Given the description of an element on the screen output the (x, y) to click on. 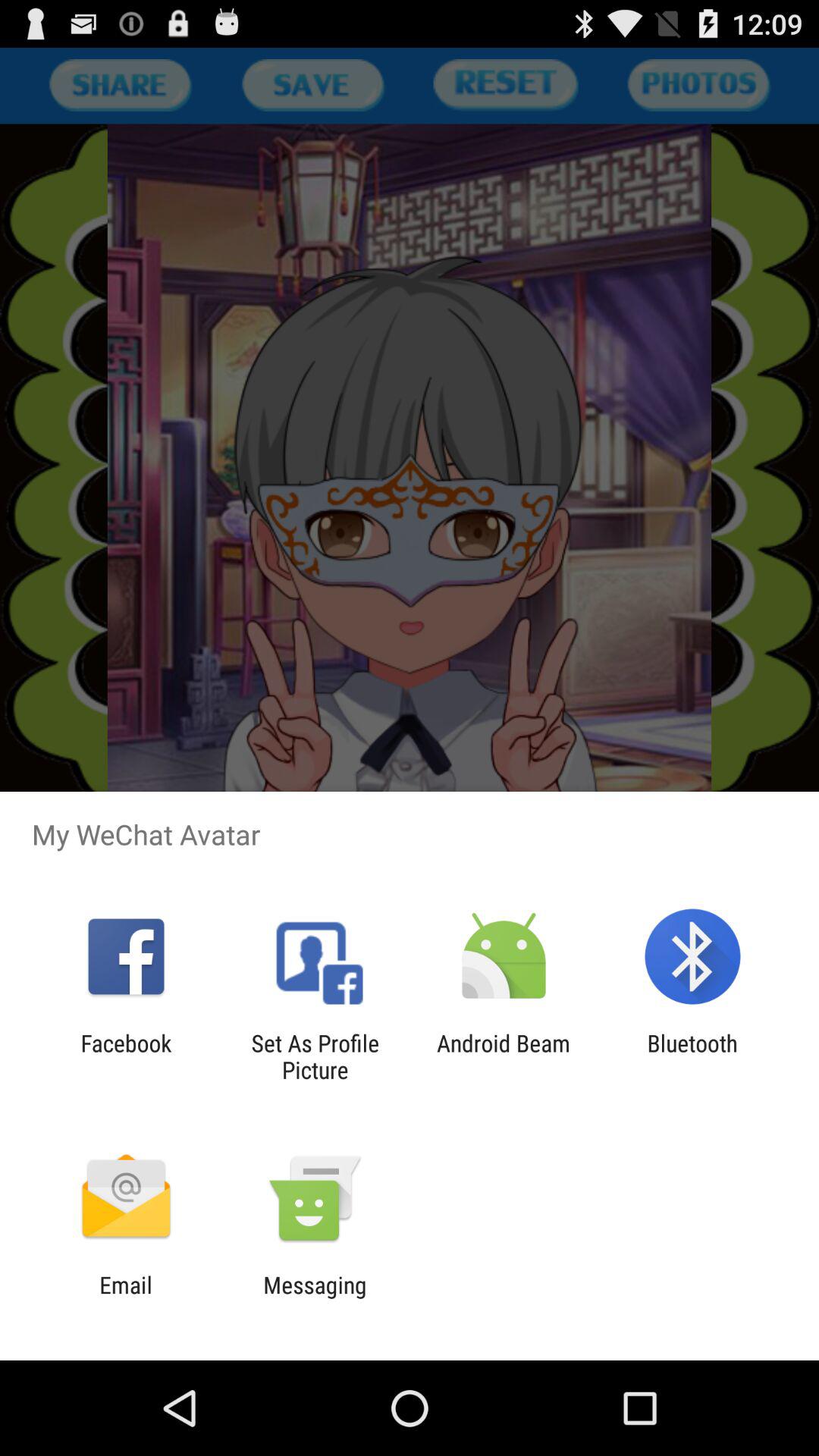
choose the icon to the left of android beam (314, 1056)
